Given the description of an element on the screen output the (x, y) to click on. 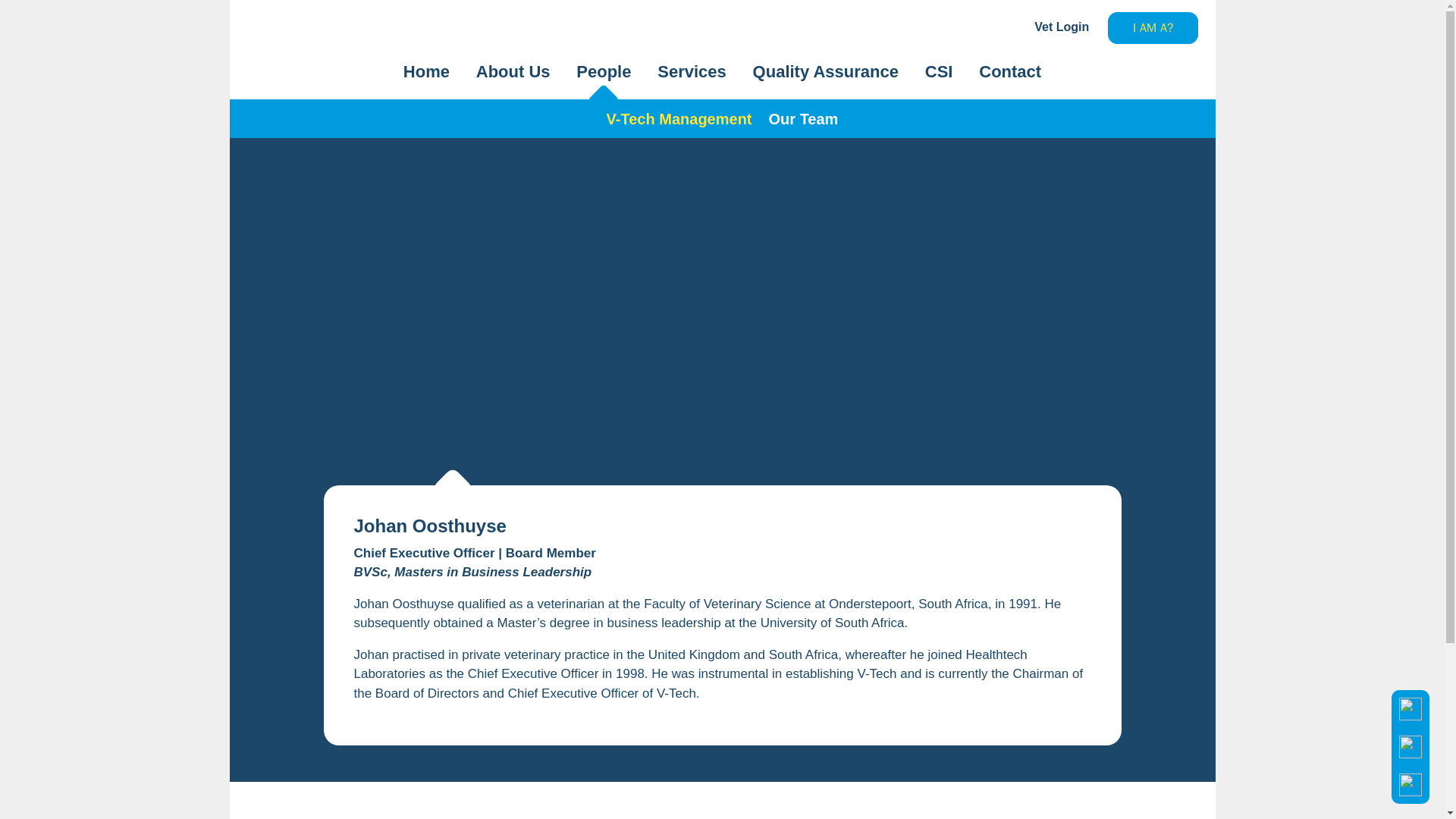
Home (426, 71)
Services (692, 71)
Our Team (803, 118)
About Us (513, 71)
Vet Login (1054, 26)
People (603, 71)
Quality Assurance (825, 71)
Contact (1009, 71)
CSI (938, 71)
V-Tech Management (679, 118)
